Given the description of an element on the screen output the (x, y) to click on. 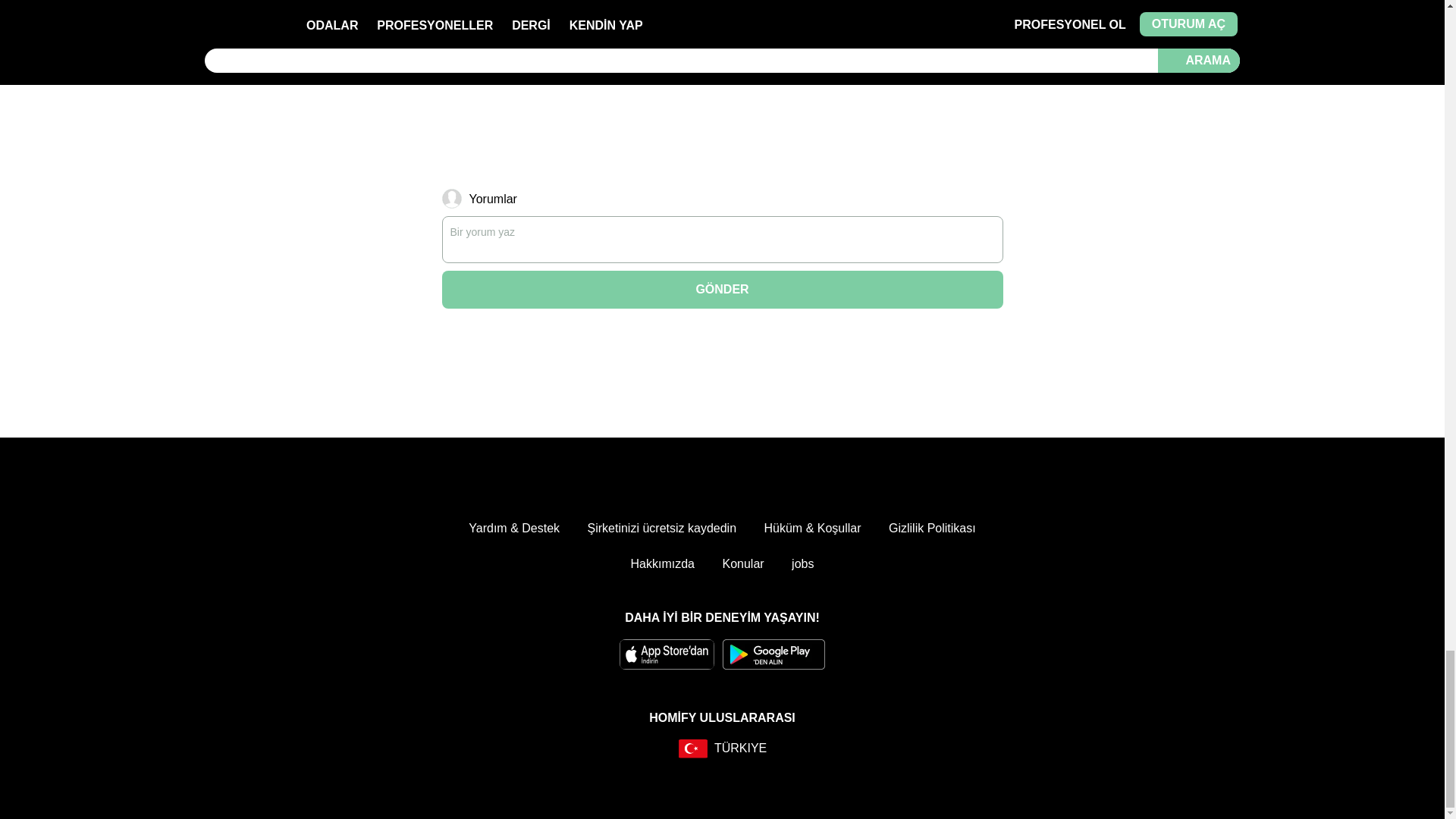
jobs (802, 564)
Konular (742, 564)
